Given the description of an element on the screen output the (x, y) to click on. 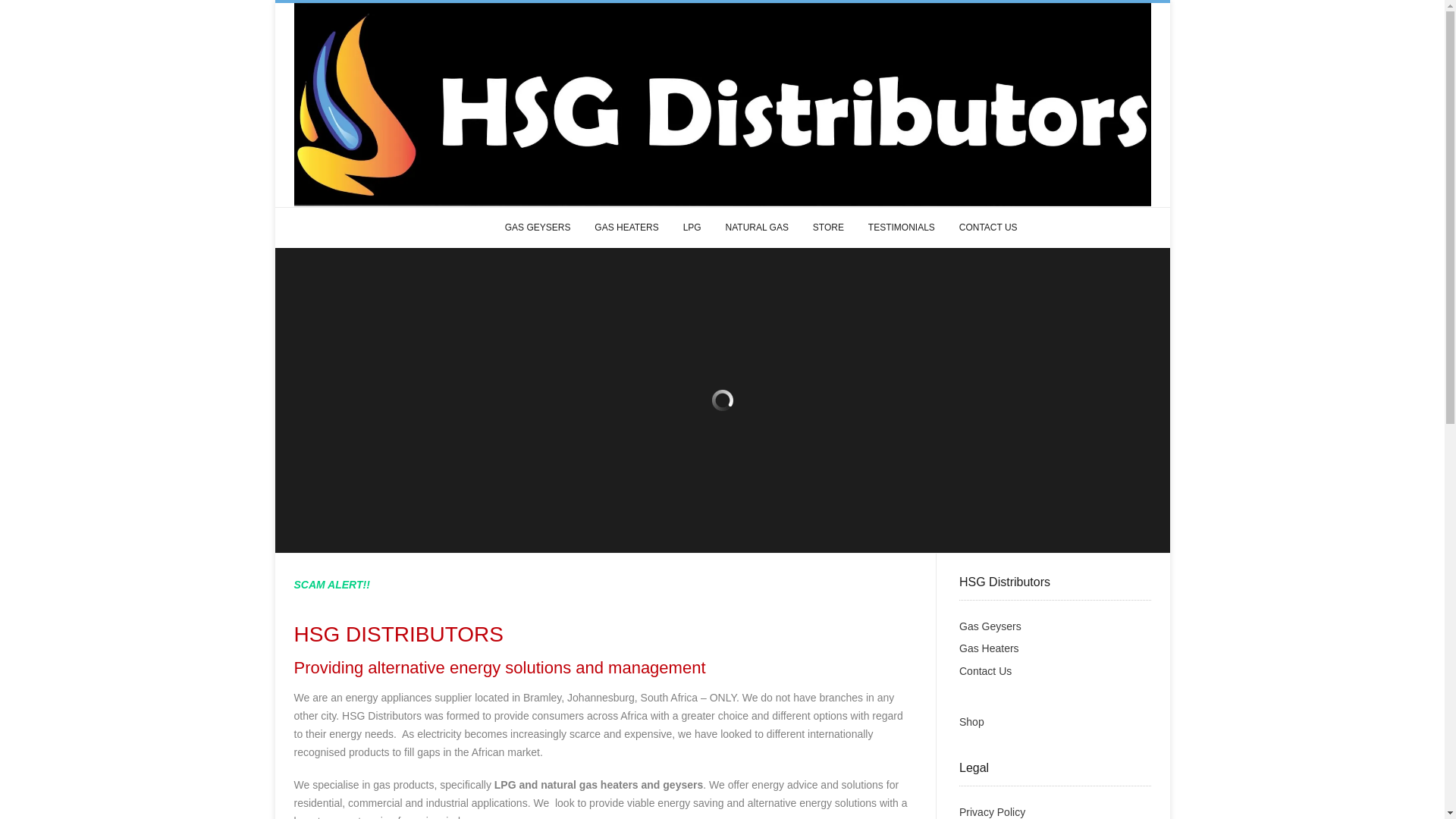
Shop (971, 721)
Privacy Policy (992, 811)
GAS GEYSERS (537, 227)
Gas Heaters (989, 648)
CONTACT US (988, 227)
NATURAL GAS (756, 227)
ABOUT HSG (453, 227)
LPG (691, 227)
STORE (828, 227)
GAS HEATERS (625, 227)
